Given the description of an element on the screen output the (x, y) to click on. 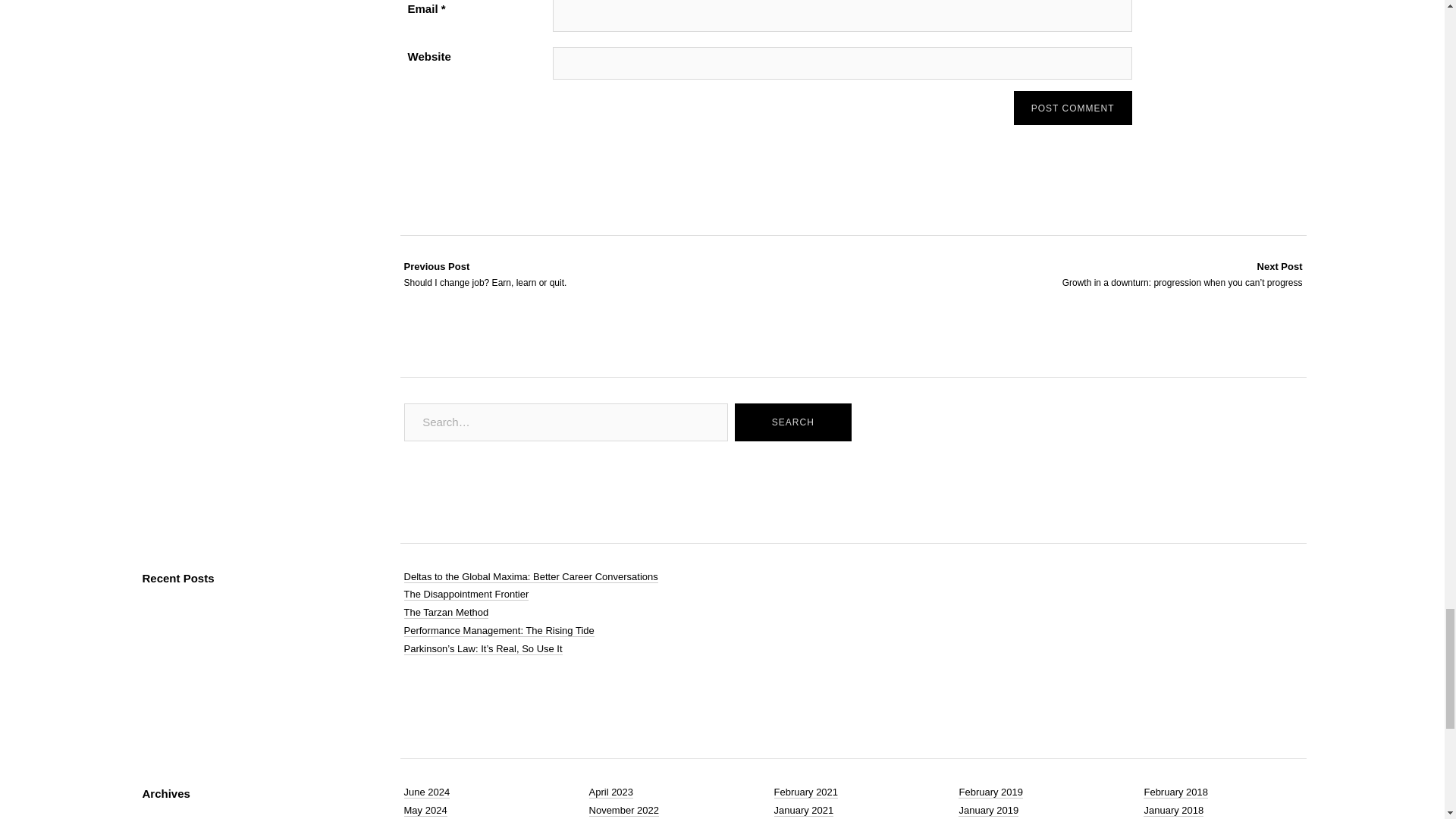
Post Comment (1072, 107)
Search (485, 274)
Search (792, 422)
Post Comment (792, 422)
